Given the description of an element on the screen output the (x, y) to click on. 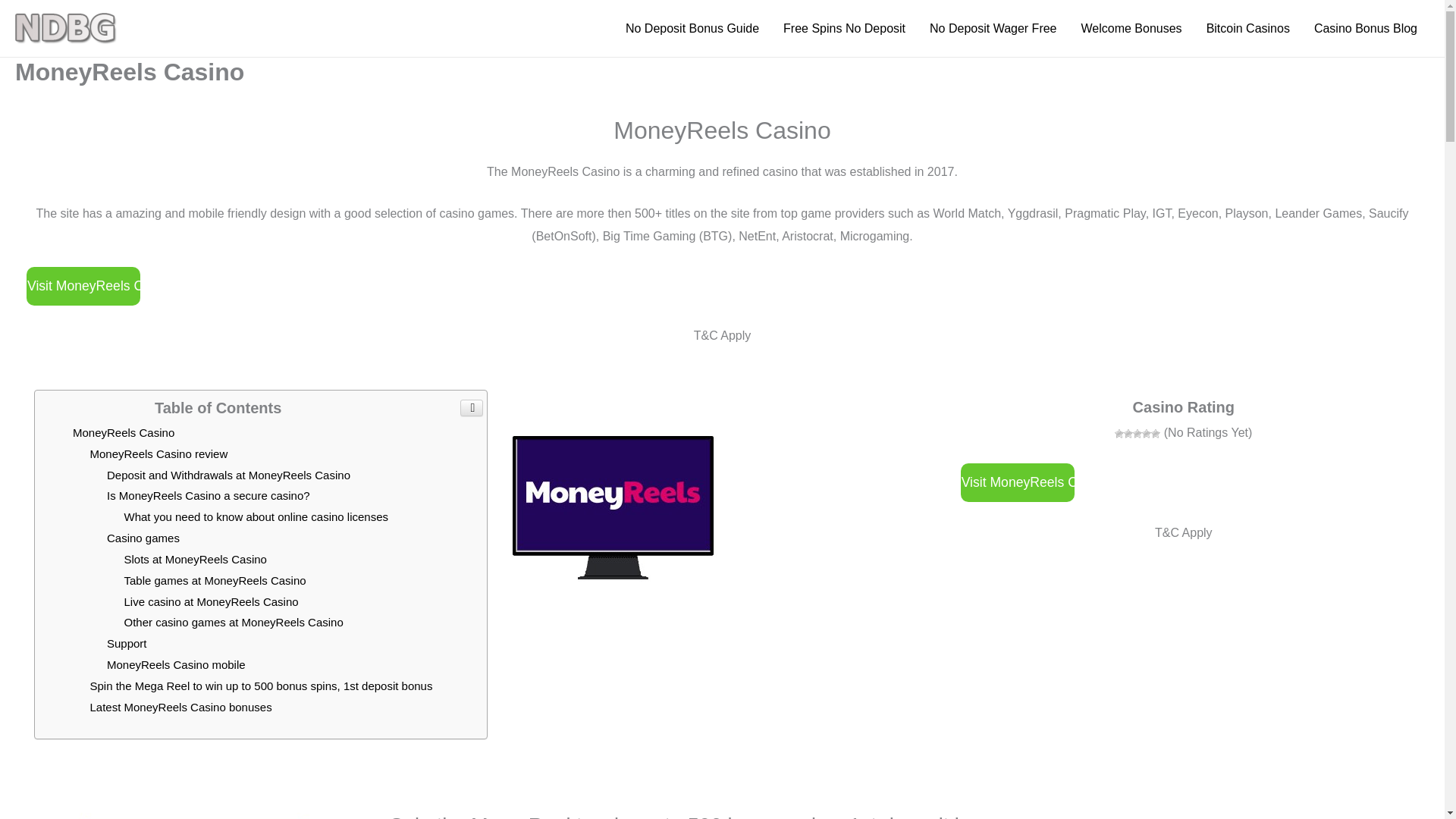
Casino games (142, 537)
Slots at MoneyReels Casino (194, 558)
Table games at MoneyReels Casino (214, 580)
MoneyReels Casino mobile (176, 664)
Other casino games at MoneyReels Casino (233, 621)
Visit MoneyReels Casino (82, 285)
Table games at MoneyReels Casino (214, 580)
MoneyReels Casino (123, 431)
2 Stars (1128, 433)
1 Star (1119, 433)
Support (126, 643)
MoneyReels Casino (123, 431)
Deposit and Withdrawals at MoneyReels Casino (228, 474)
MoneyReels Casino review (157, 453)
